Given the description of an element on the screen output the (x, y) to click on. 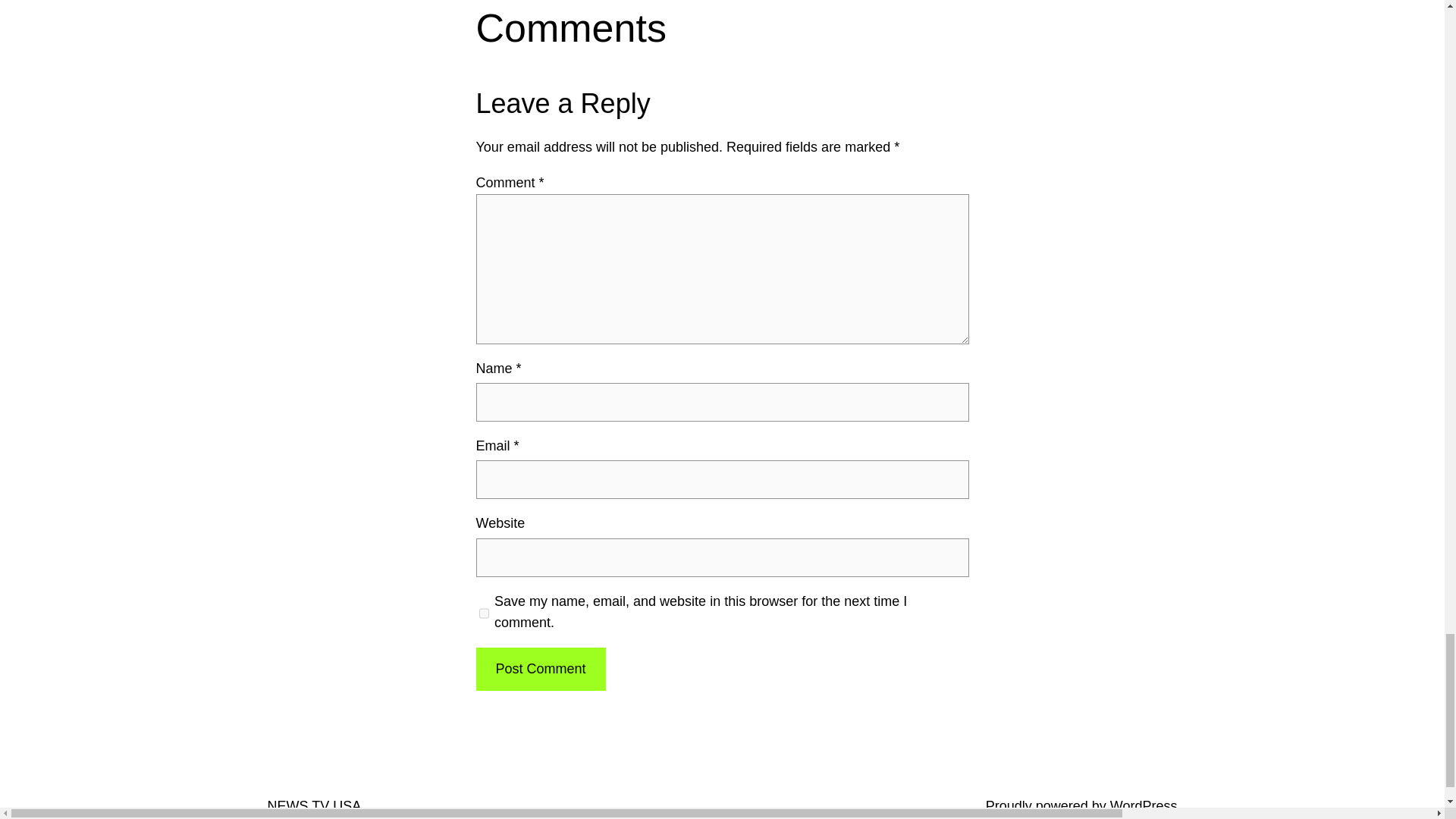
Post Comment (540, 669)
